Given the description of an element on the screen output the (x, y) to click on. 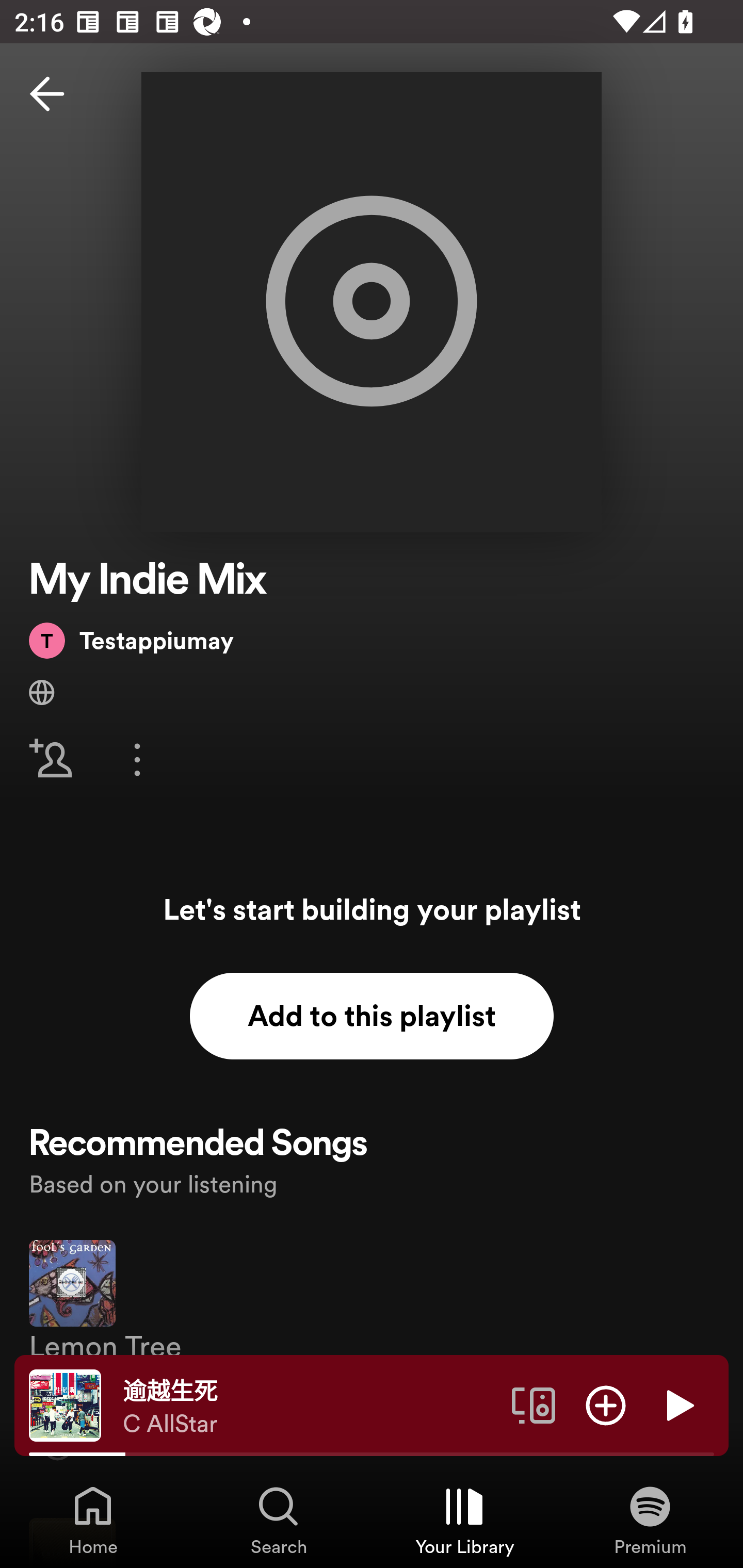
Back (46, 93)
Testappiumay (131, 640)
Invite Friends for playlist (50, 759)
More options for playlist My Indie Mix (136, 759)
Add to this playlist (371, 1015)
逾越生死 C AllStar (309, 1405)
The cover art of the currently playing track (64, 1404)
Connect to a device. Opens the devices menu (533, 1404)
Add item (605, 1404)
Play (677, 1404)
Home, Tab 1 of 4 Home Home (92, 1519)
Search, Tab 2 of 4 Search Search (278, 1519)
Your Library, Tab 3 of 4 Your Library Your Library (464, 1519)
Premium, Tab 4 of 4 Premium Premium (650, 1519)
